Given the description of an element on the screen output the (x, y) to click on. 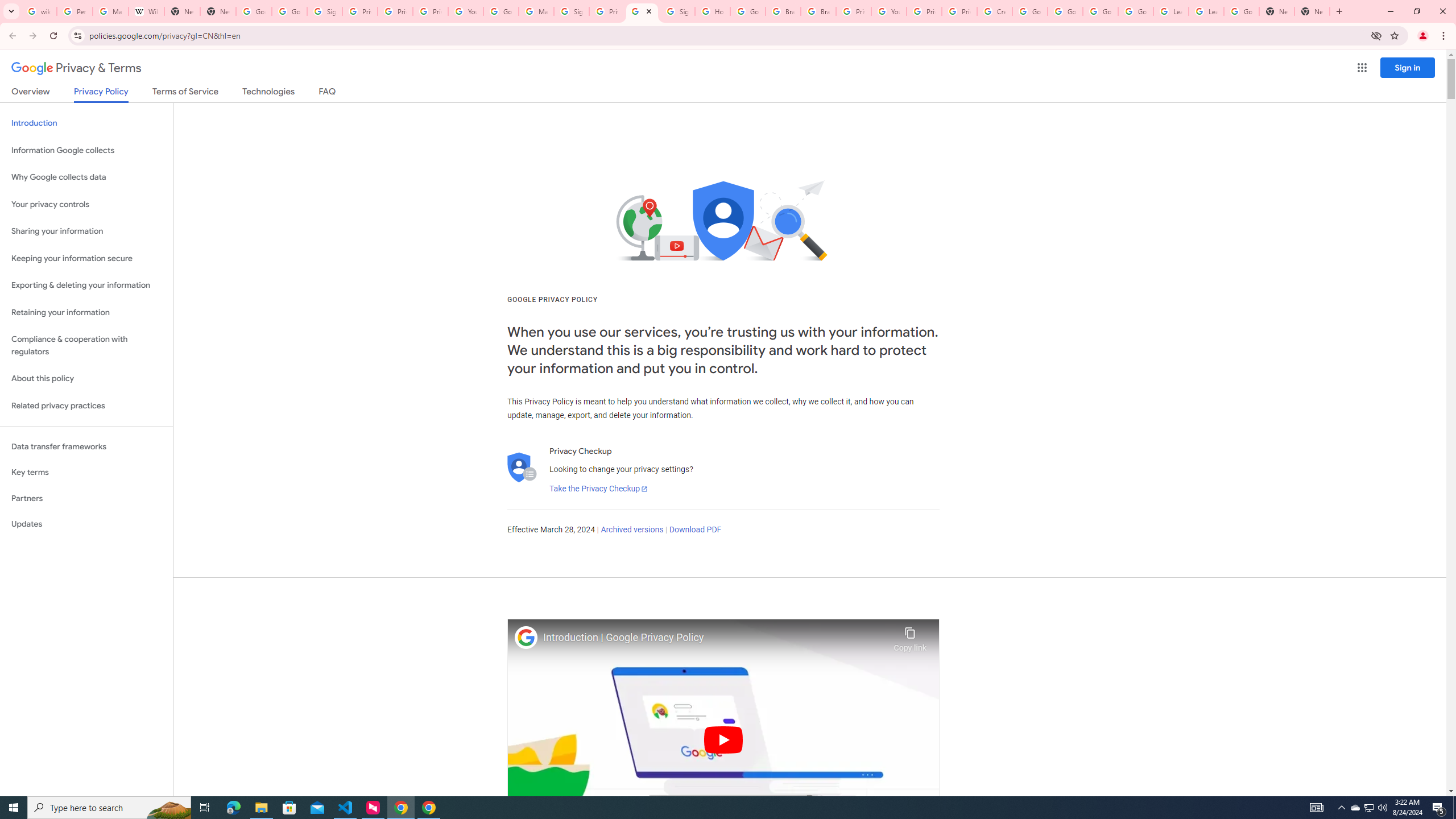
Sign in - Google Accounts (677, 11)
Google Account Help (1029, 11)
